Given the description of an element on the screen output the (x, y) to click on. 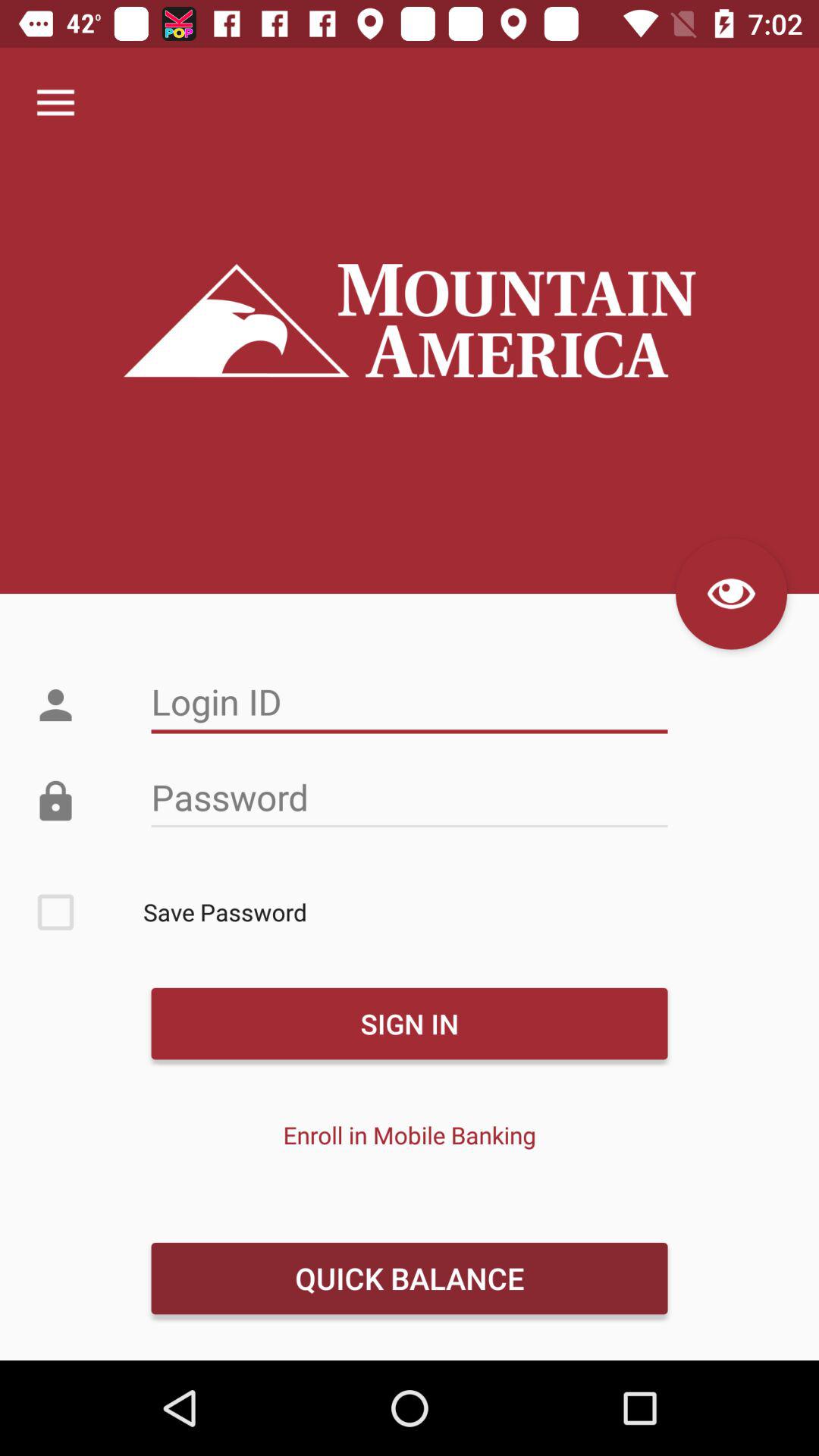
tap the item on the right (731, 593)
